Given the description of an element on the screen output the (x, y) to click on. 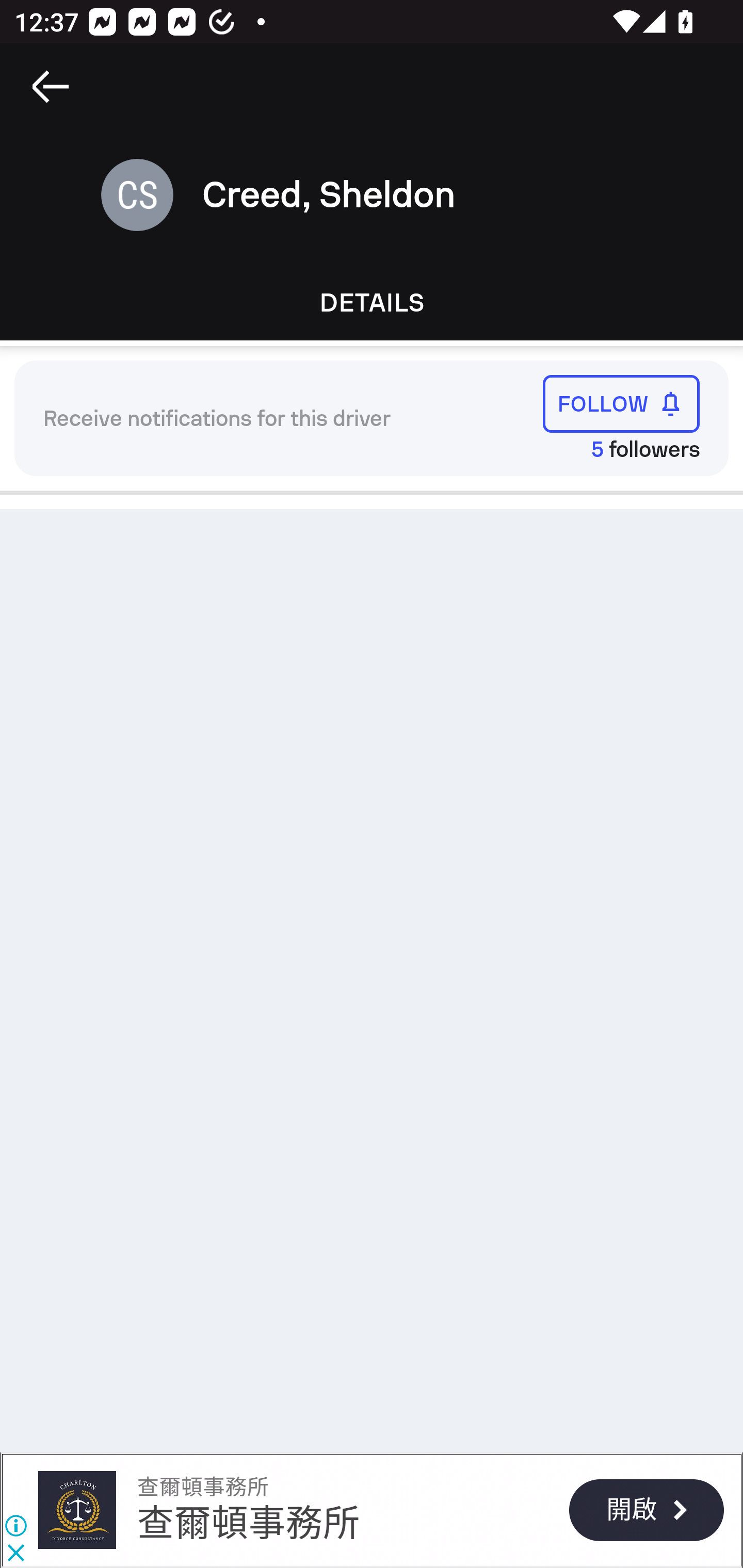
Navigate up (50, 86)
FOLLOW (621, 403)
查爾頓事務所 (76, 1509)
查爾頓事務所 (201, 1486)
開啟 (645, 1509)
查爾頓事務所 (248, 1523)
